Given the description of an element on the screen output the (x, y) to click on. 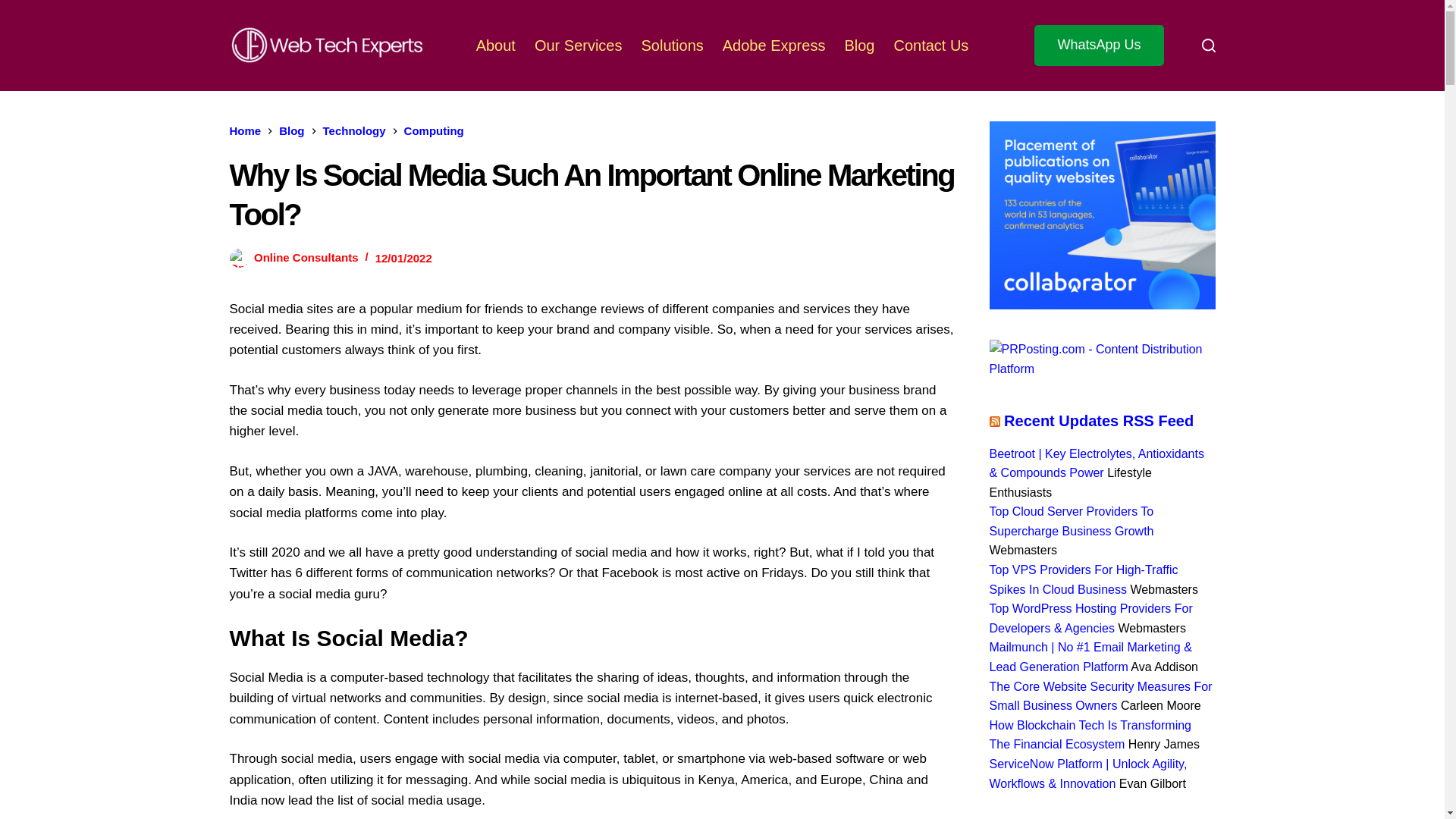
About (494, 45)
Solutions (672, 45)
Home (244, 131)
Posts by Online Consultants (305, 257)
Blog (858, 45)
Technology (354, 131)
Adobe Express (773, 45)
Online Consultants (305, 257)
Our Services (577, 45)
Contact Us (930, 45)
Computing (434, 131)
Skip to content (15, 7)
Blog (291, 131)
Why Is Social Media Such An Important Online Marketing Tool? (591, 194)
WhatsApp Us (1098, 45)
